Given the description of an element on the screen output the (x, y) to click on. 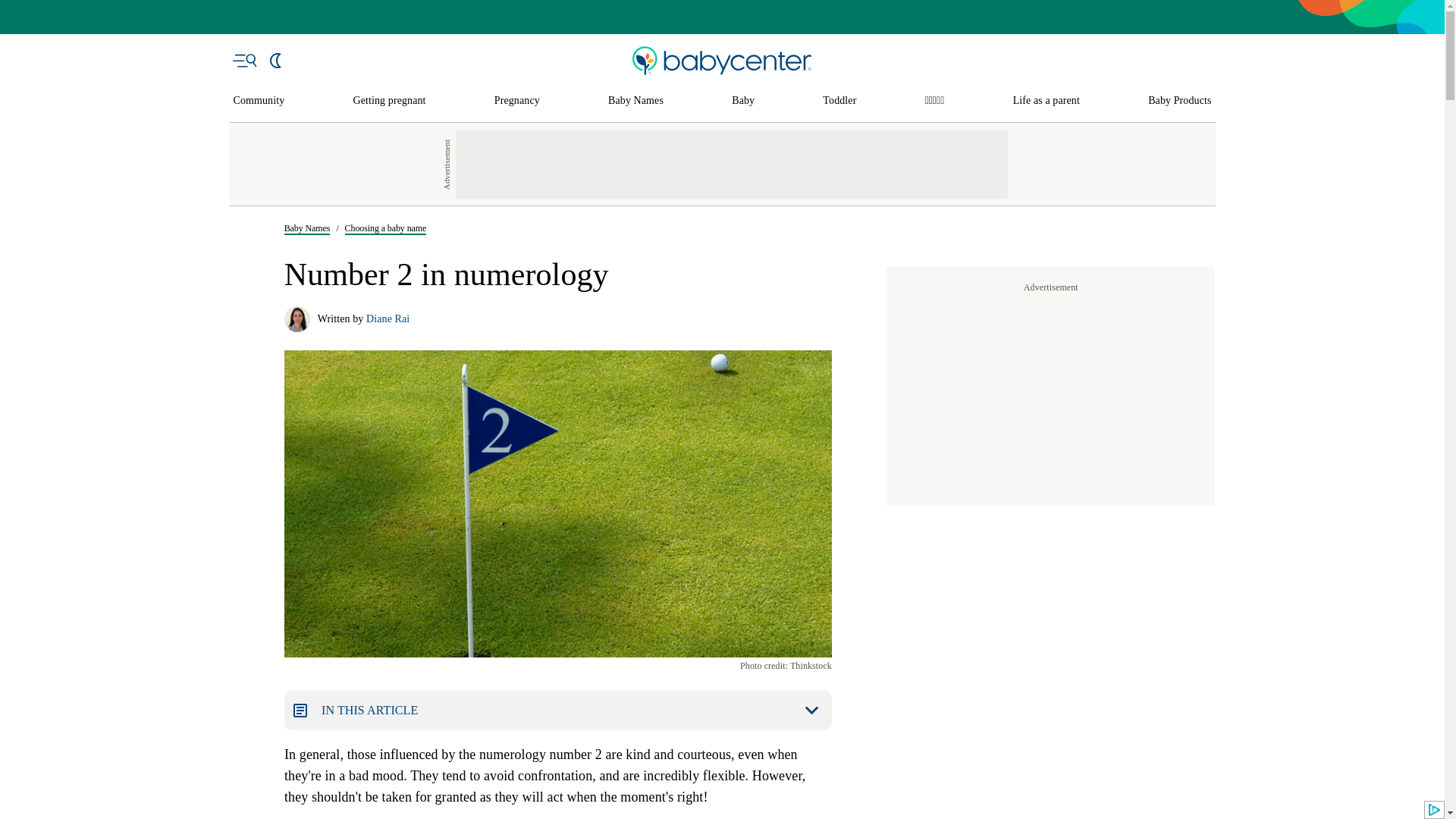
Pregnancy (517, 101)
Community (258, 101)
Toddler (839, 101)
Baby Names (635, 101)
Baby (743, 101)
Life as a parent (1046, 101)
Getting pregnant (389, 101)
Baby Products (1179, 101)
